Given the description of an element on the screen output the (x, y) to click on. 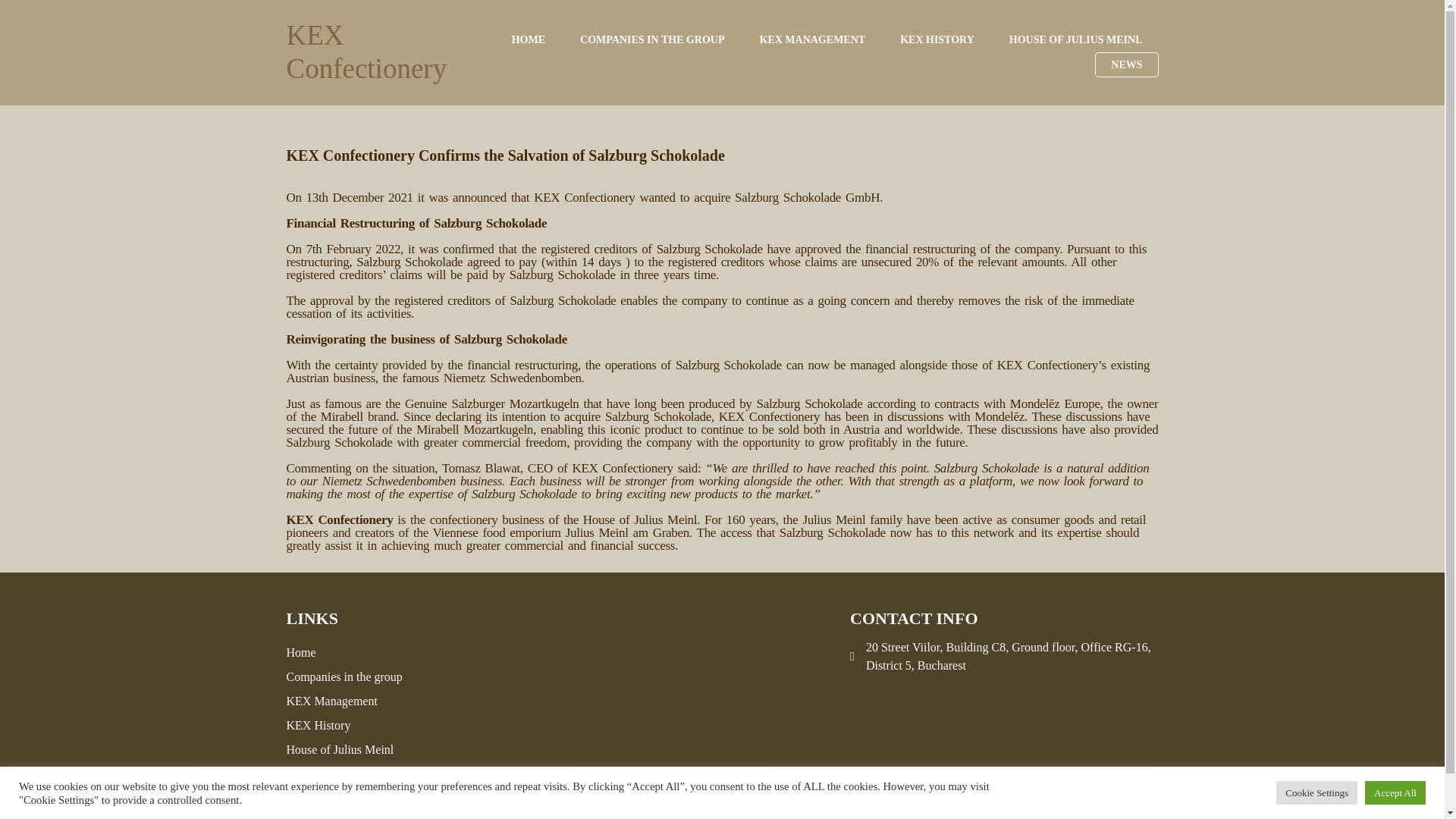
Companies in the group (389, 677)
KEX MANAGEMENT (813, 39)
Accept All (1395, 792)
KEX HISTORY (936, 39)
News (389, 773)
Cookie Settings (1316, 792)
HOUSE OF JULIUS MEINL (1075, 39)
KEX Management (389, 701)
Home (389, 652)
COMPANIES IN THE GROUP (651, 39)
KEX History (389, 725)
NEWS (1125, 64)
HOME (528, 39)
House of Julius Meinl (389, 750)
